Given the description of an element on the screen output the (x, y) to click on. 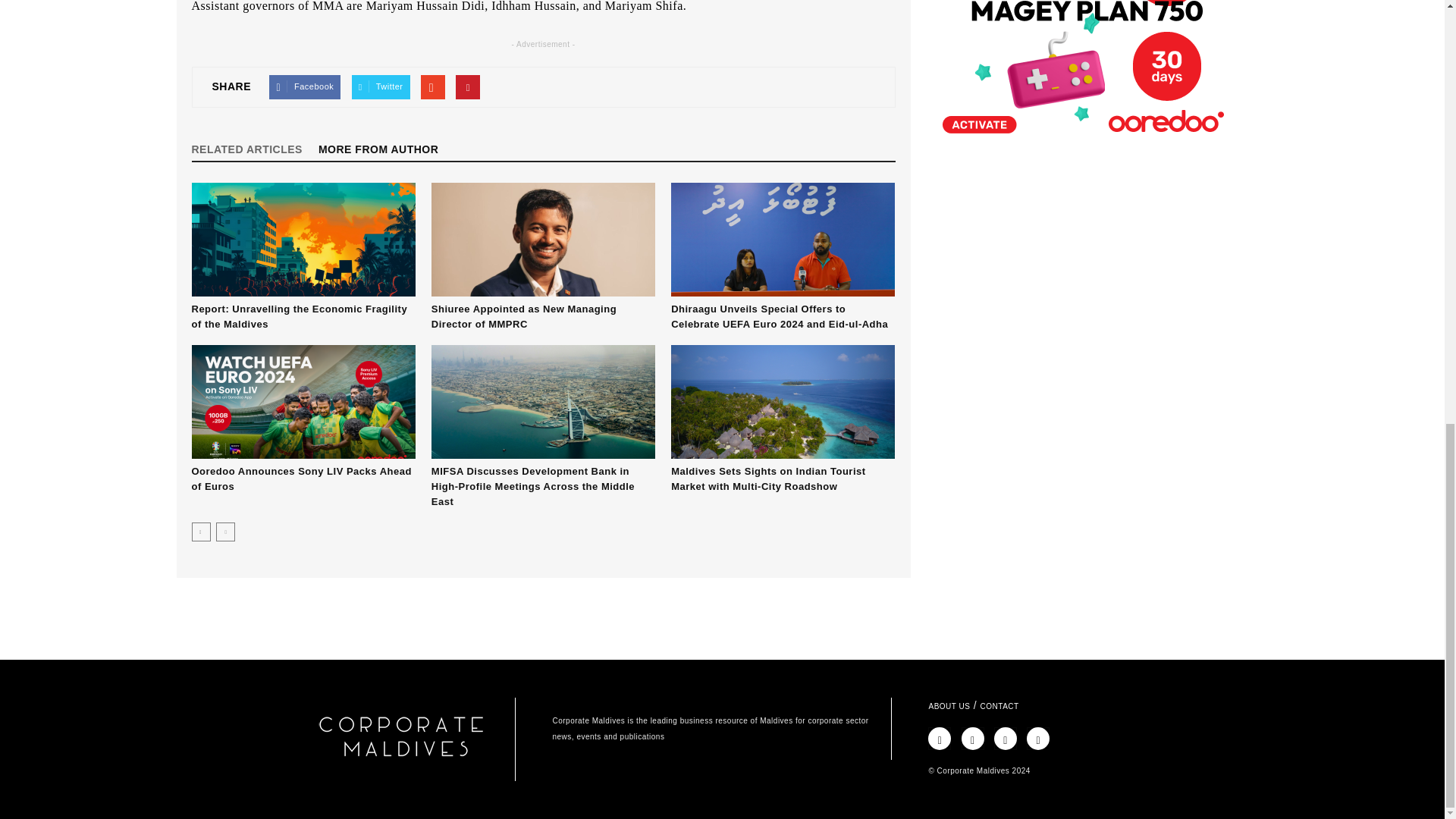
Shiuree Appointed as New Managing Director of MMPRC (522, 316)
Ooredoo Announces Sony LIV Packs Ahead of Euros (300, 479)
Report: Unravelling the Economic Fragility of the Maldives (298, 316)
Facebook (304, 87)
Twitter (381, 87)
Shiuree Appointed as New Managing Director of MMPRC (542, 239)
Report: Unravelling the Economic Fragility of the Maldives (302, 239)
Ooredoo Announces Sony LIV Packs Ahead of Euros (302, 401)
